Given the description of an element on the screen output the (x, y) to click on. 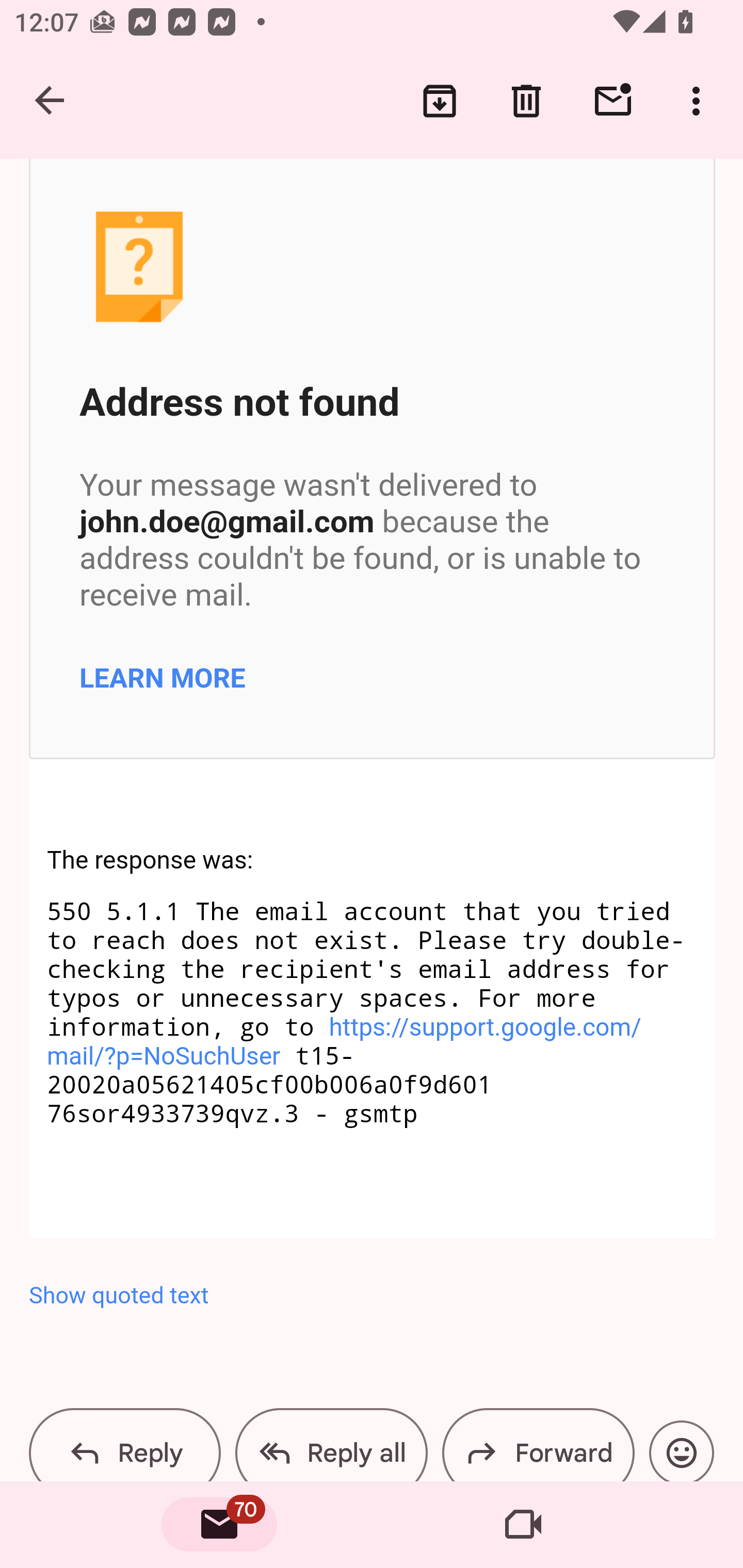
Navigate up (50, 101)
Archive (439, 101)
Delete (525, 101)
Mark unread (612, 101)
More options (699, 101)
LEARN MORE (162, 677)
Show quoted text (372, 1295)
Reply (124, 1444)
Reply all (331, 1444)
Forward (538, 1444)
Add emoji reaction (681, 1450)
Meet (523, 1524)
